Given the description of an element on the screen output the (x, y) to click on. 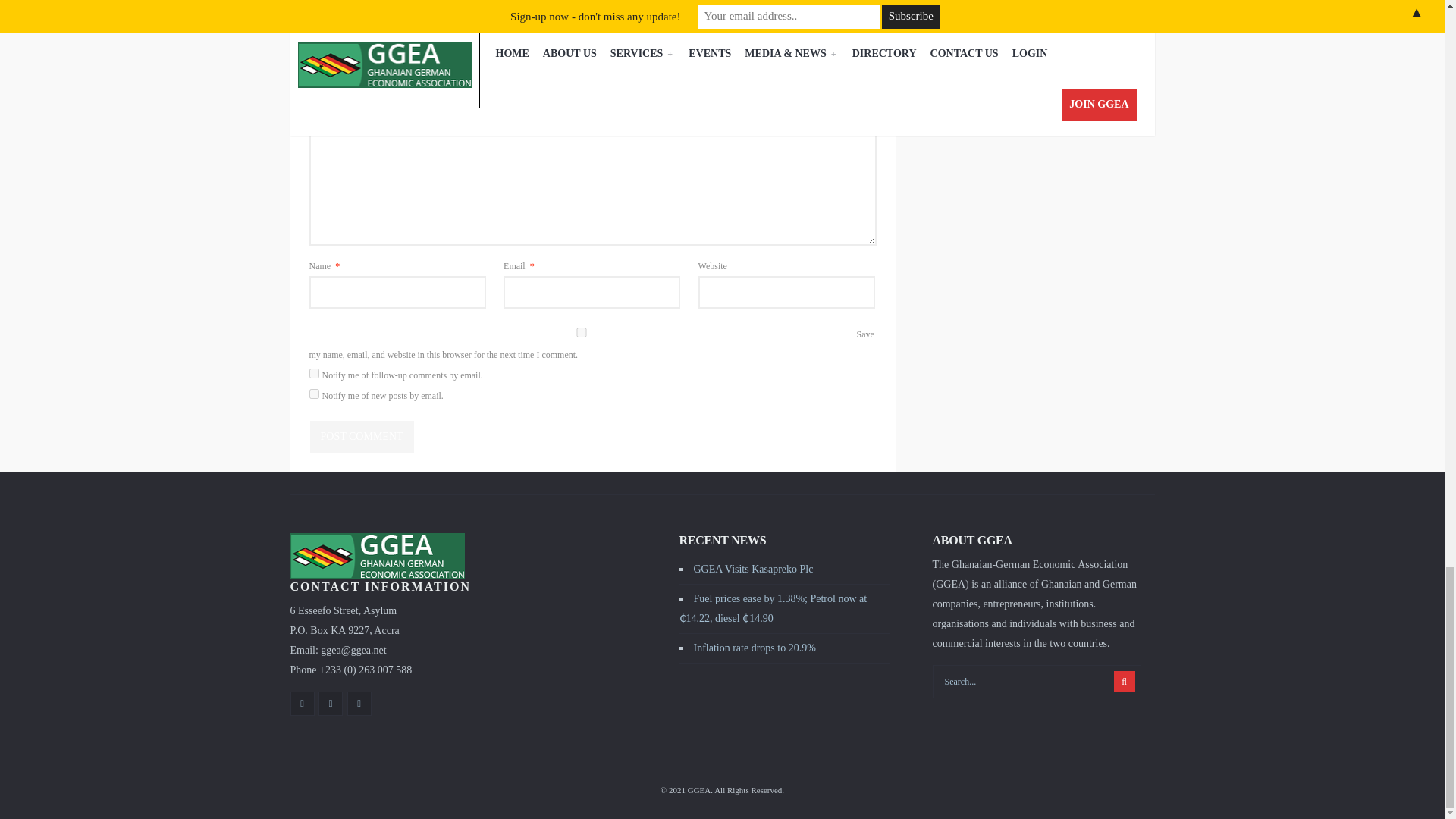
Facebook (301, 703)
subscribe (313, 373)
Post Comment (360, 436)
Search... (1037, 681)
yes (580, 332)
subscribe (313, 393)
